Given the description of an element on the screen output the (x, y) to click on. 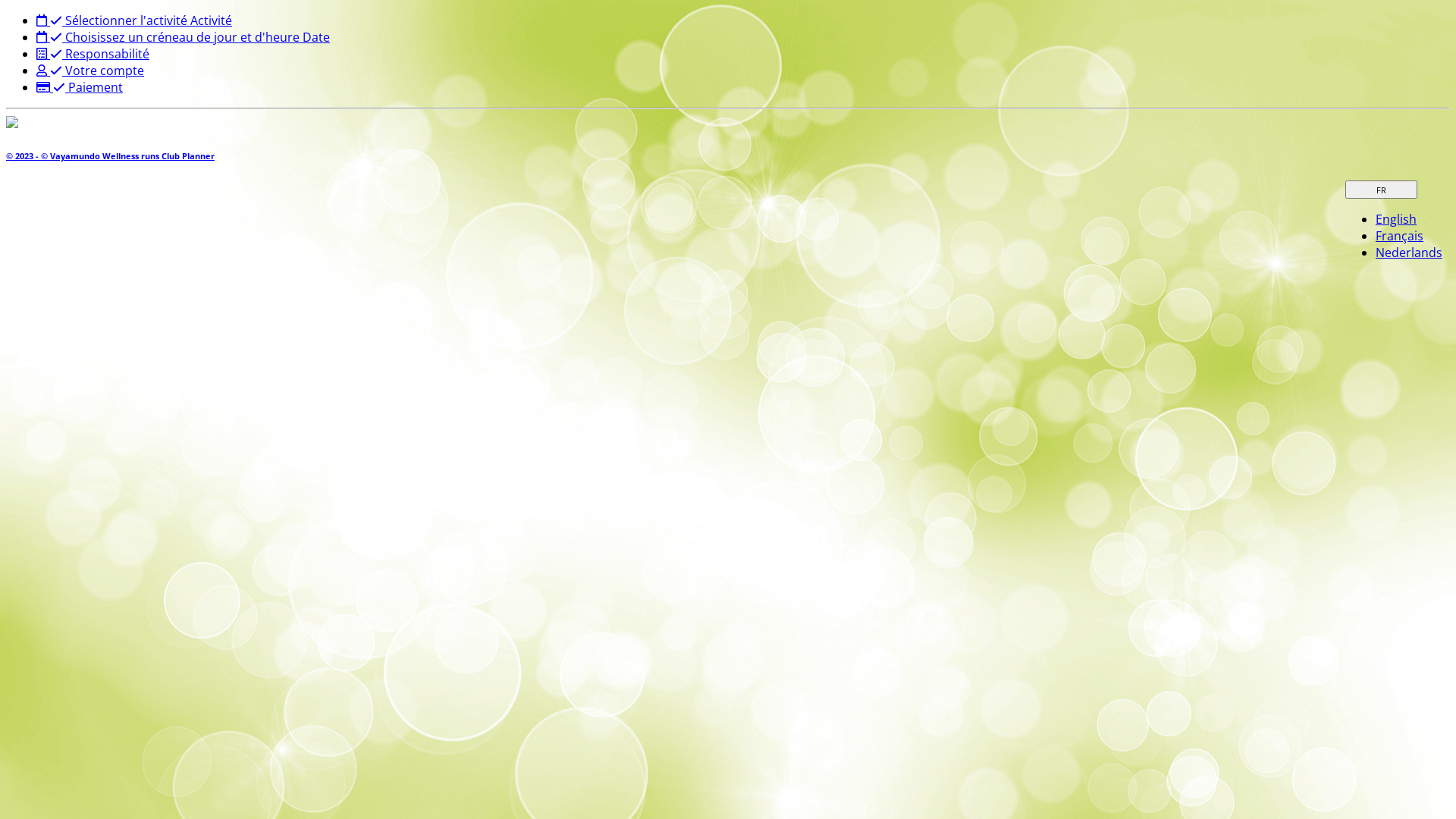
FR Element type: text (1381, 189)
Paiement Element type: text (79, 86)
Nederlands Element type: text (1408, 252)
English Element type: text (1395, 218)
Votre compte Element type: text (90, 70)
